Given the description of an element on the screen output the (x, y) to click on. 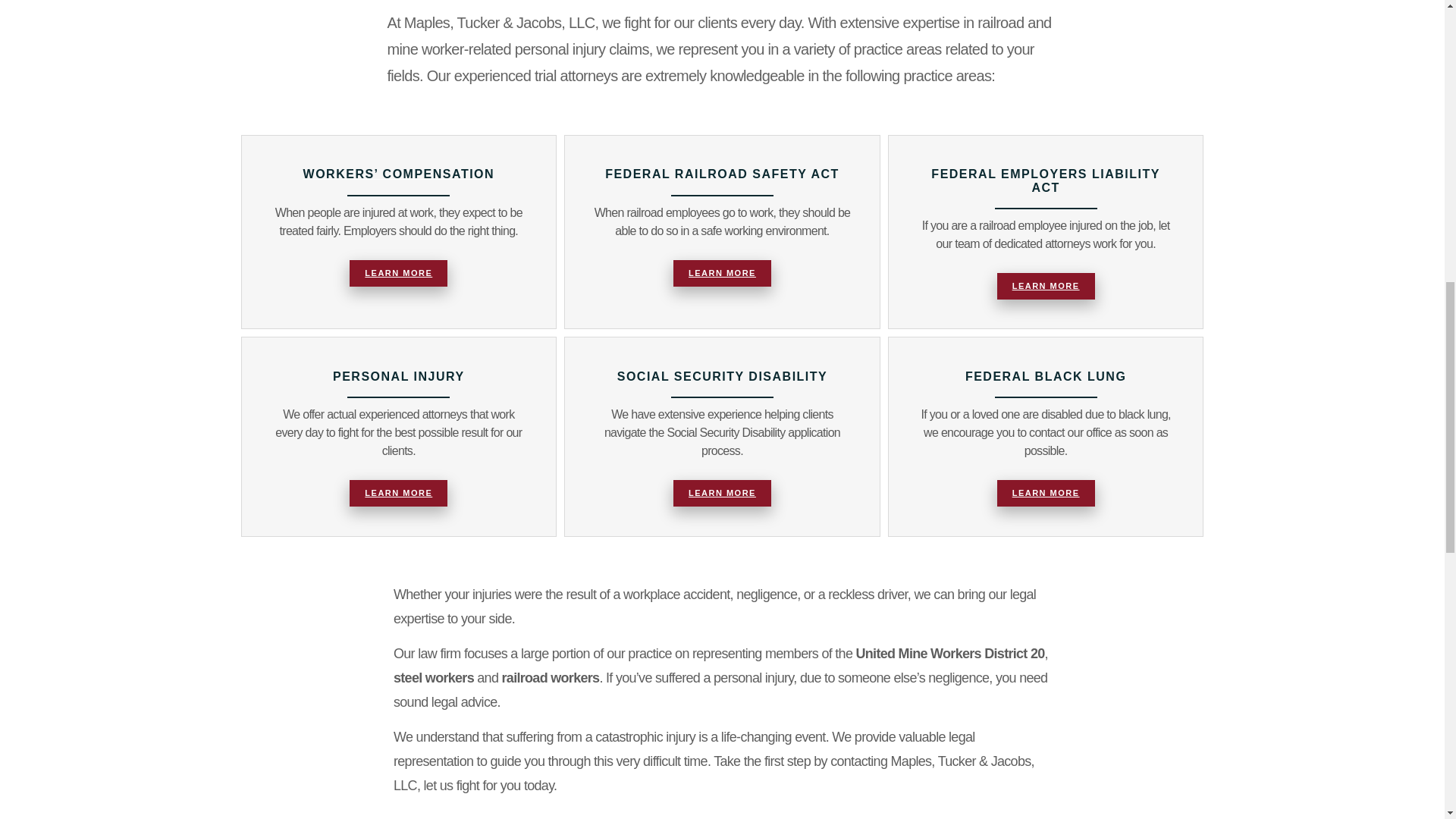
LEARN MORE (397, 273)
